Given the description of an element on the screen output the (x, y) to click on. 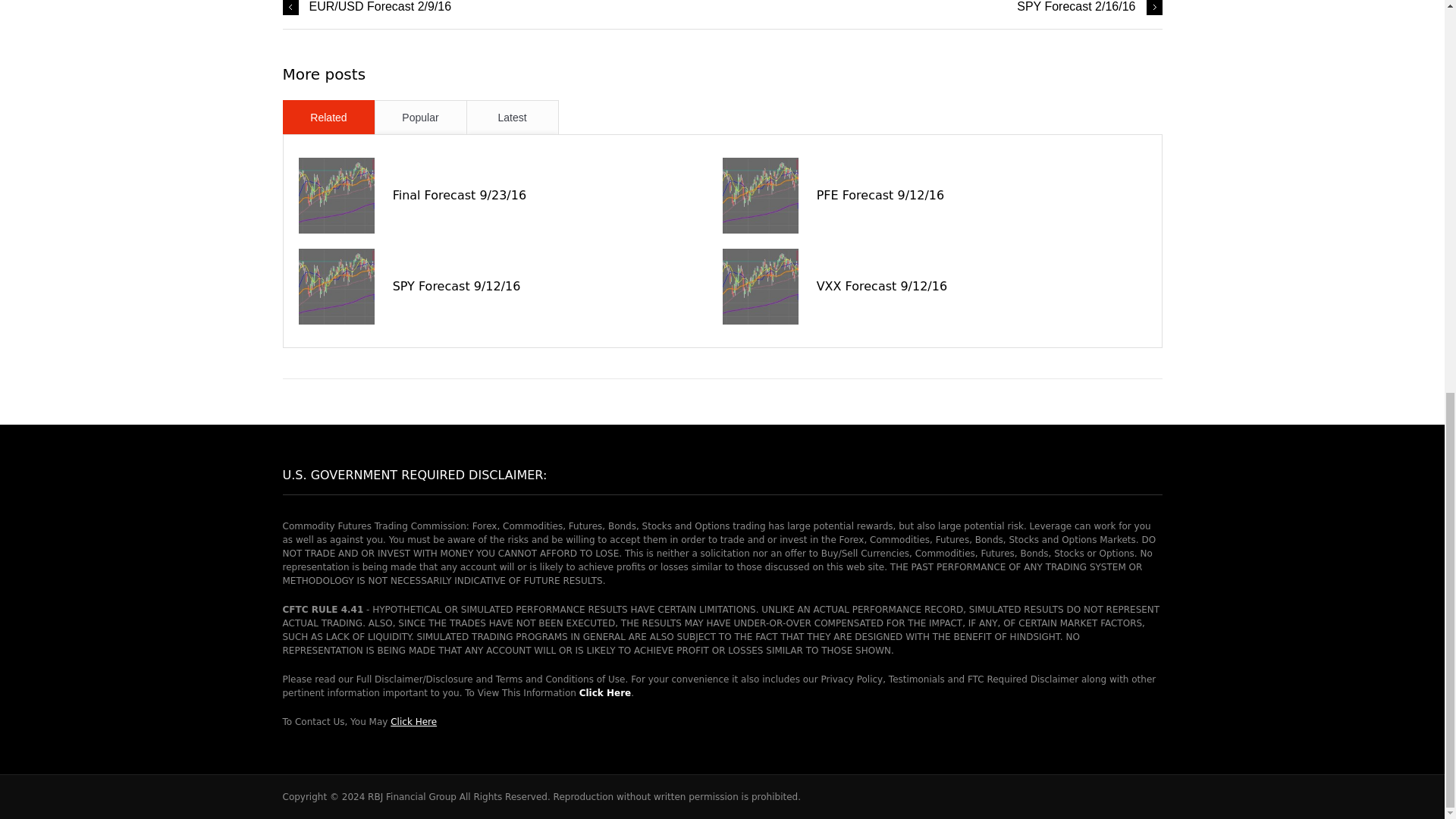
Latest (512, 117)
Popular (419, 117)
Related (328, 117)
